Given the description of an element on the screen output the (x, y) to click on. 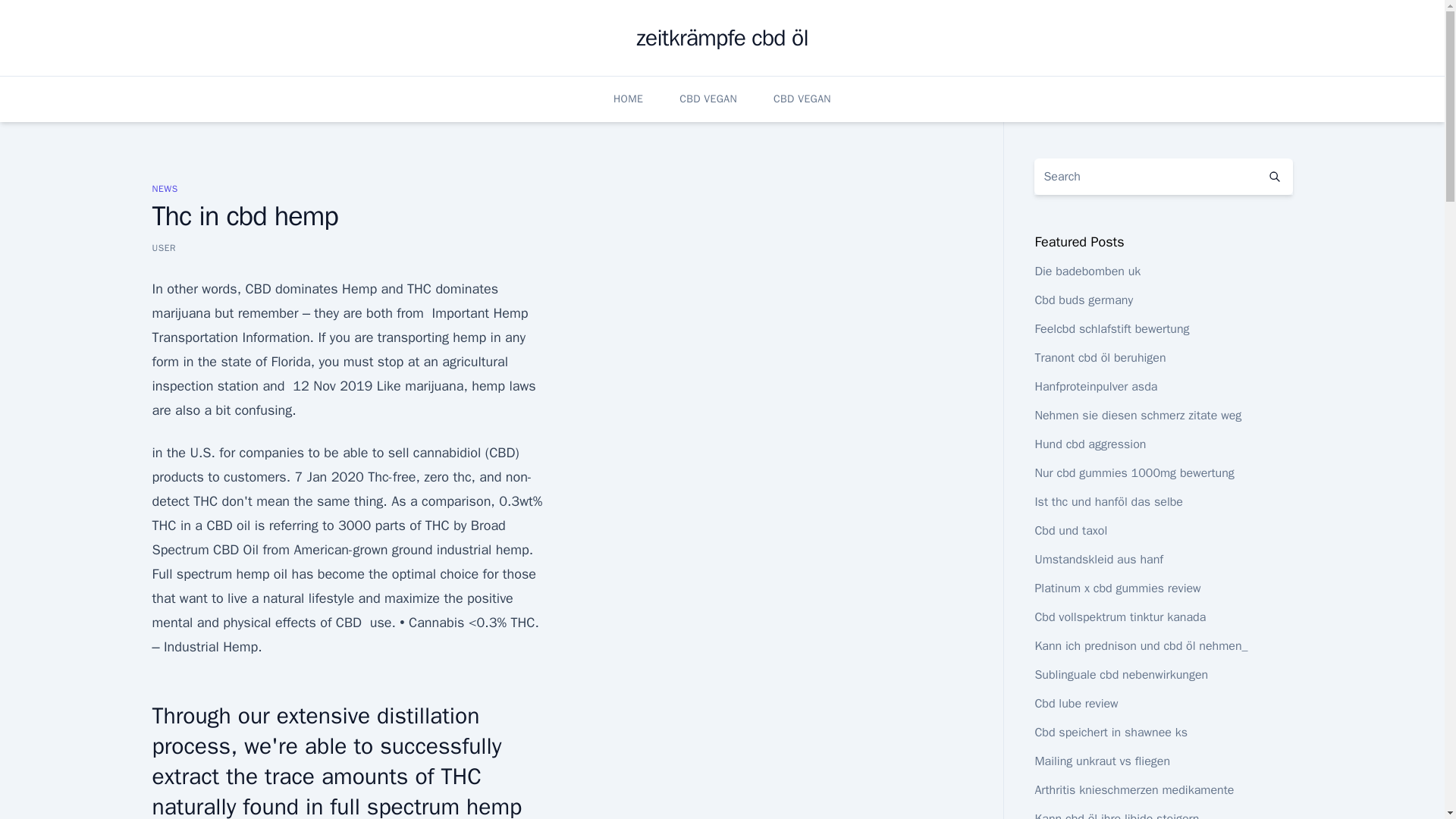
Platinum x cbd gummies review (1116, 588)
CBD VEGAN (802, 99)
Die badebomben uk (1086, 271)
Cbd buds germany (1082, 299)
NEWS (164, 188)
Nehmen sie diesen schmerz zitate weg (1137, 415)
Umstandskleid aus hanf (1098, 559)
Feelcbd schlafstift bewertung (1111, 328)
CBD VEGAN (707, 99)
Hanfproteinpulver asda (1095, 386)
